Given the description of an element on the screen output the (x, y) to click on. 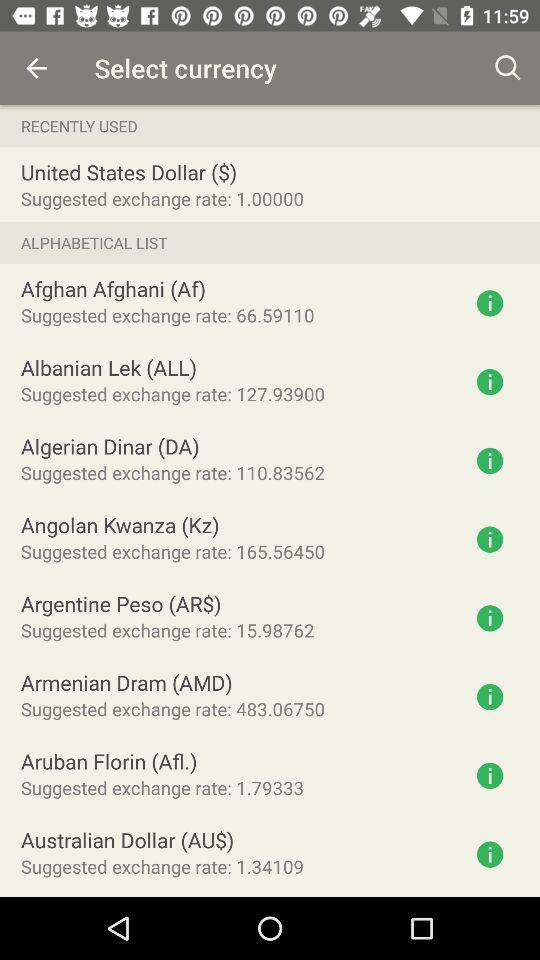
click the icon above recently used (36, 68)
